Given the description of an element on the screen output the (x, y) to click on. 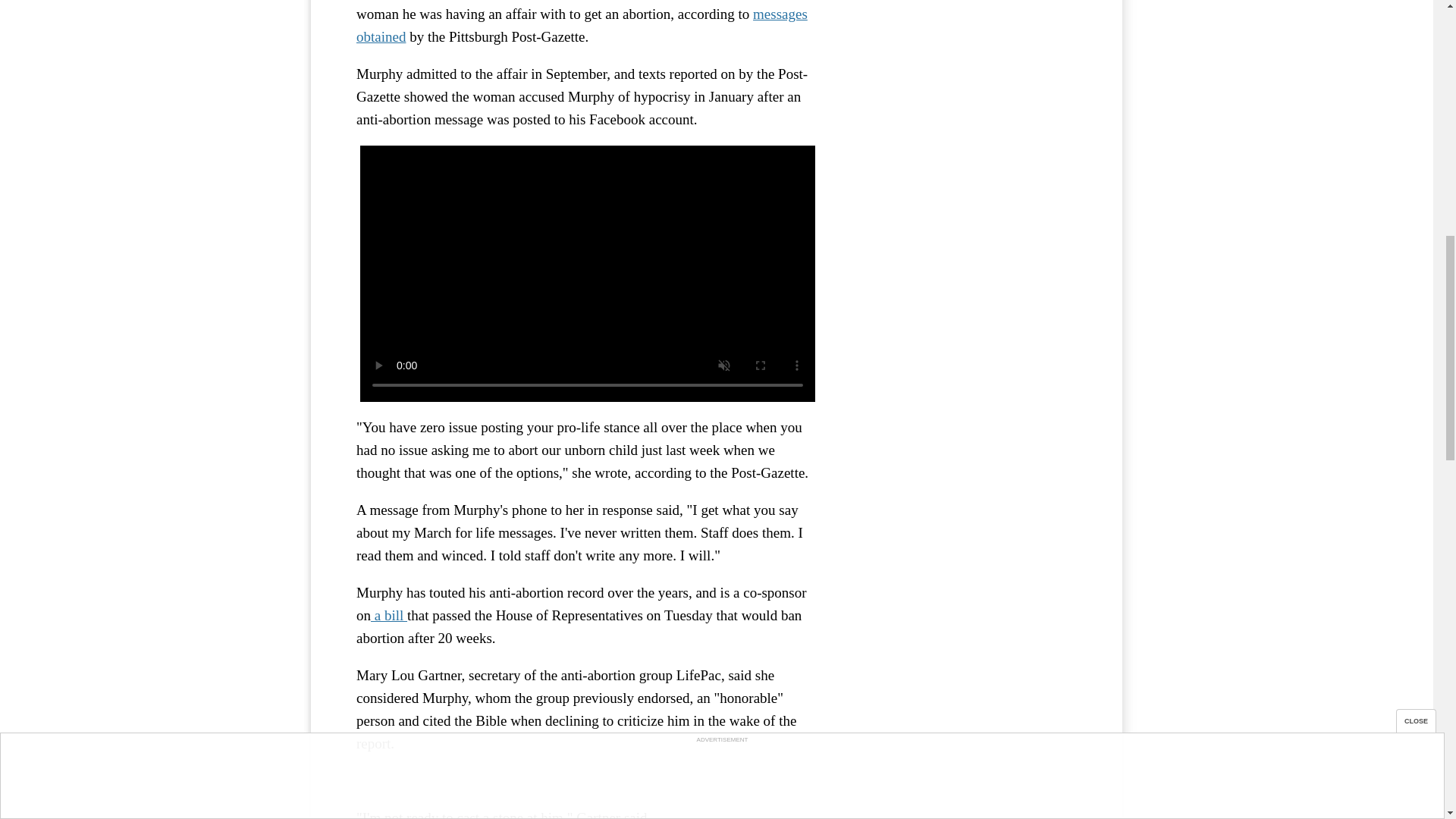
3rd party ad content (962, 50)
